Given the description of an element on the screen output the (x, y) to click on. 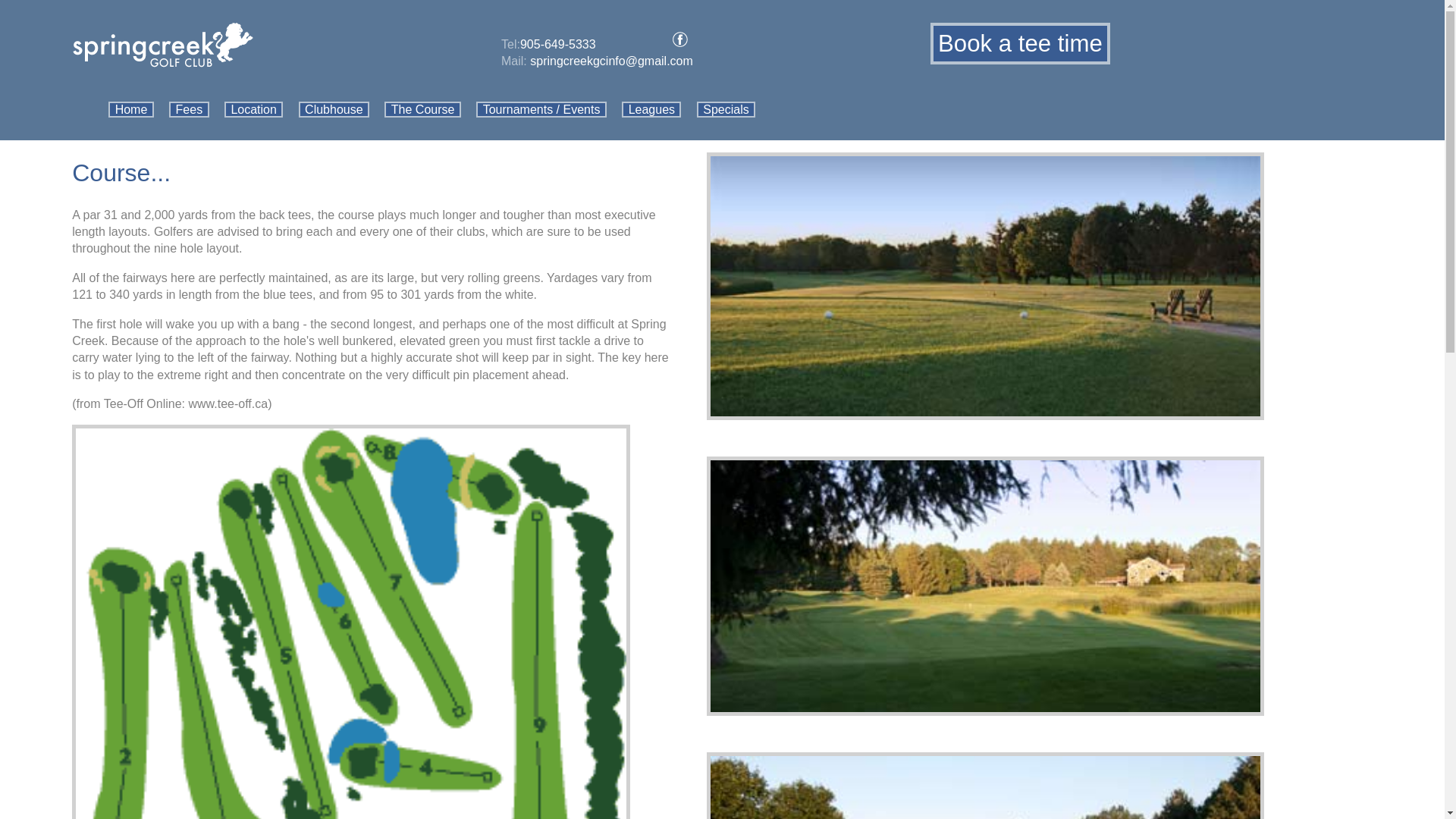
Clubhouse (333, 109)
The Course (422, 109)
Leagues (651, 109)
Location (253, 109)
Book a tee time (1019, 43)
Fees (188, 109)
905-649-5333 (557, 43)
Home (129, 109)
Specials (726, 109)
teetime (1019, 43)
